Given the description of an element on the screen output the (x, y) to click on. 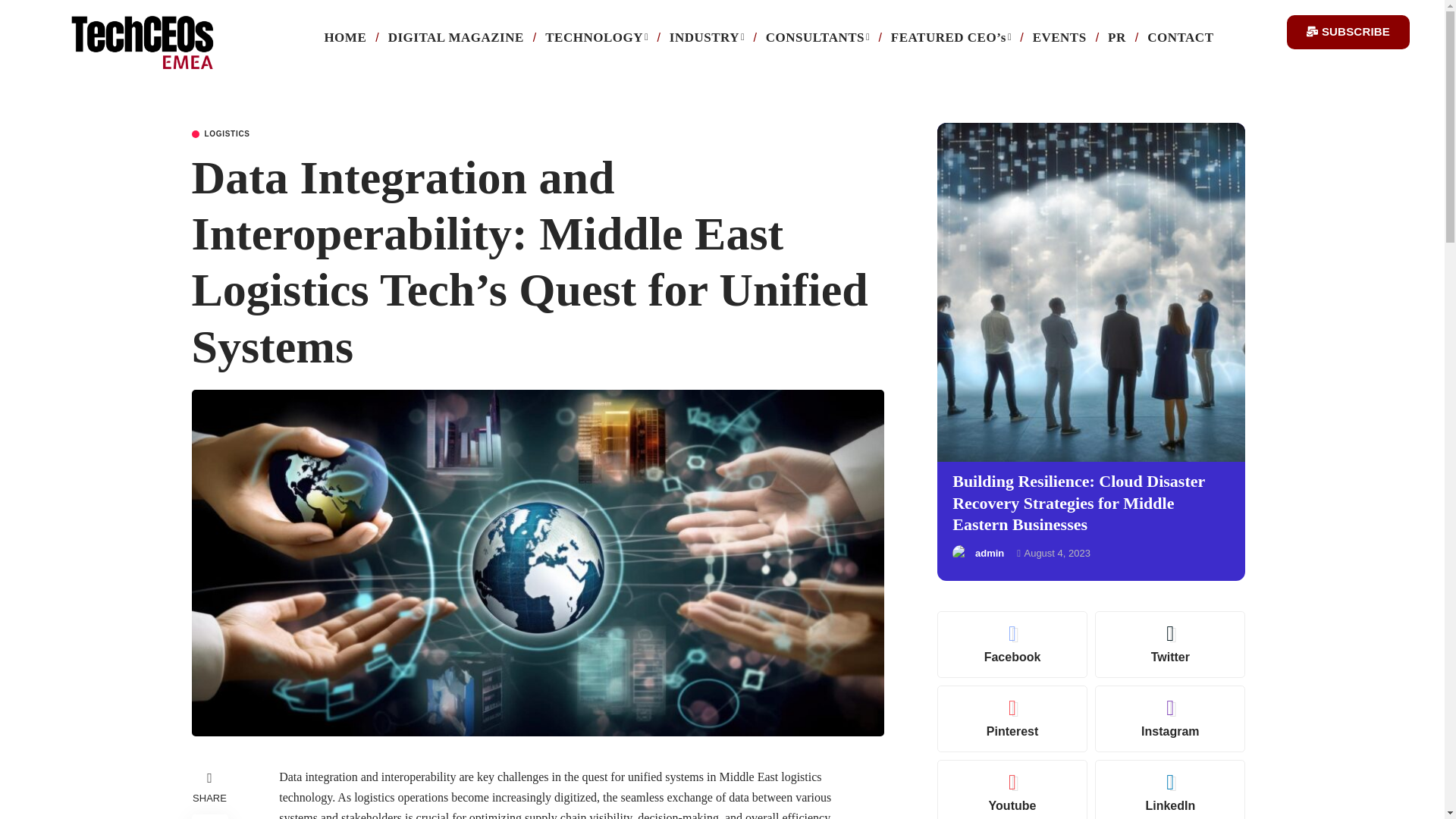
TECHNOLOGY (595, 37)
EVENTS (1059, 37)
INDUSTRY (707, 37)
CONSULTANTS (818, 37)
CONTACT (1180, 37)
HOME (344, 37)
DIGITAL MAGAZINE (455, 37)
